Given the description of an element on the screen output the (x, y) to click on. 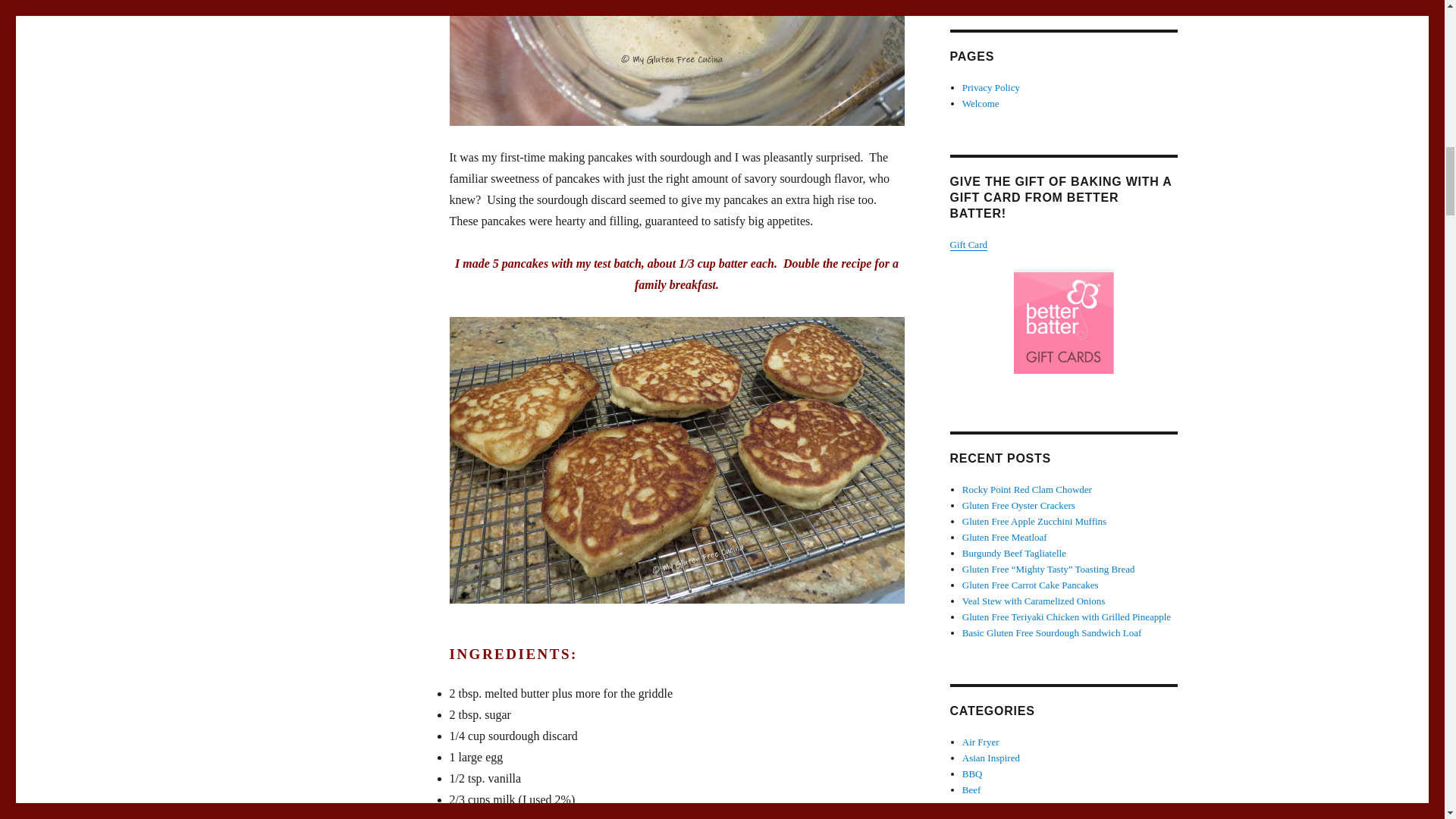
gluten free all-purpose flour (547, 816)
